Given the description of an element on the screen output the (x, y) to click on. 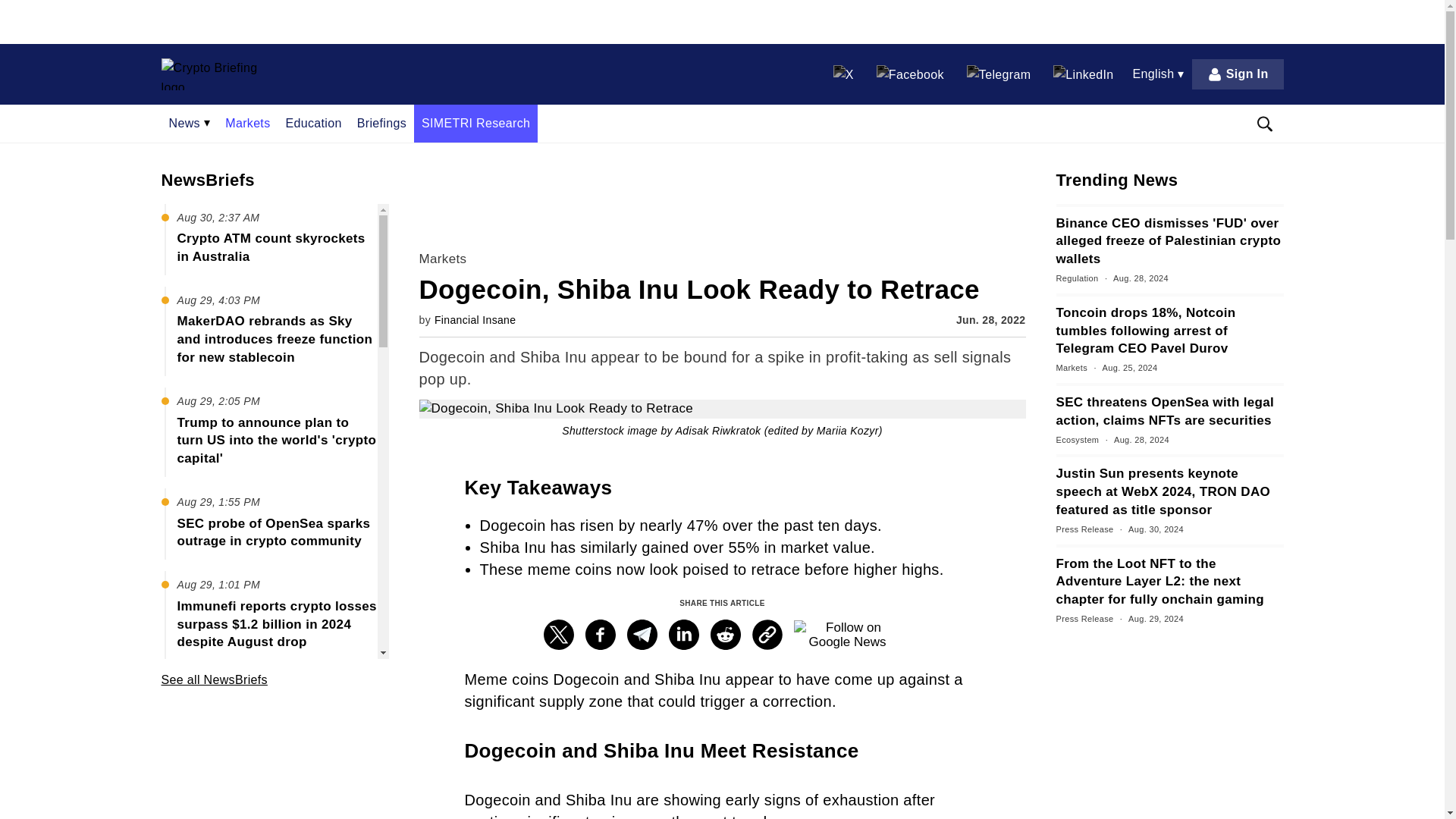
News (188, 123)
Sign In (1238, 73)
Sign In (1238, 73)
dogs-cover-2 (722, 408)
